Given the description of an element on the screen output the (x, y) to click on. 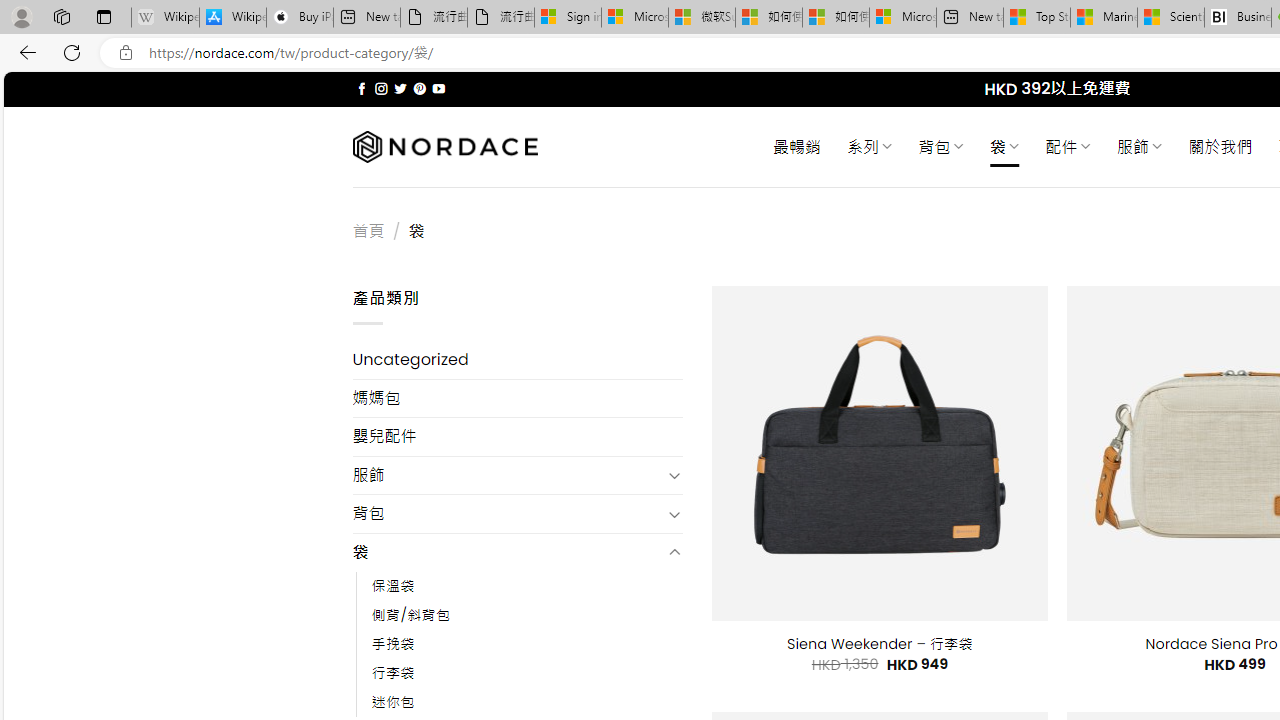
Follow on Facebook (361, 88)
Buy iPad - Apple (299, 17)
